Given the description of an element on the screen output the (x, y) to click on. 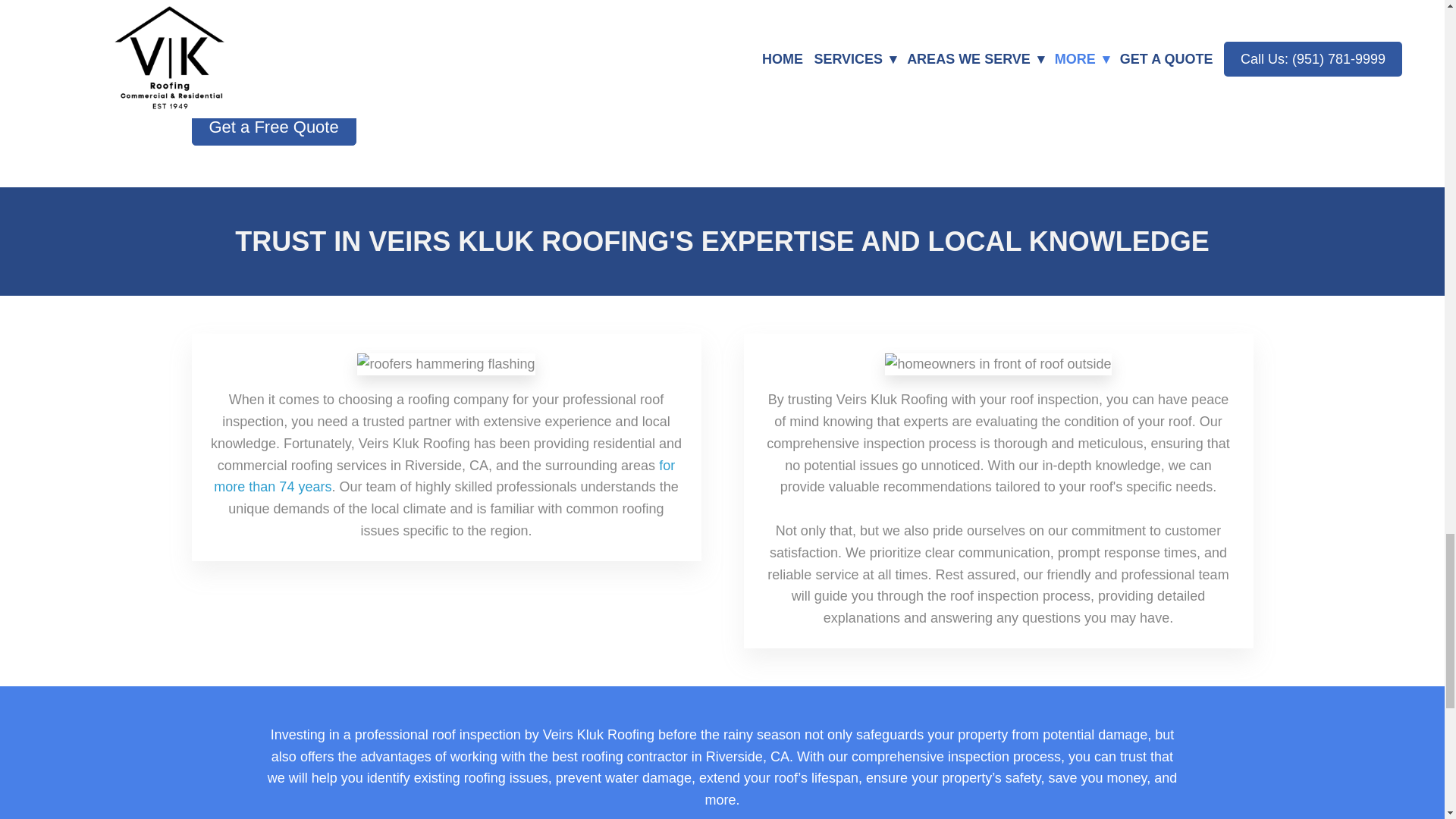
Get a Free Quote (272, 126)
roofers hammering flashing (445, 363)
for more than 74 years (444, 476)
homeowners in front of roof outside (997, 363)
